Given the description of an element on the screen output the (x, y) to click on. 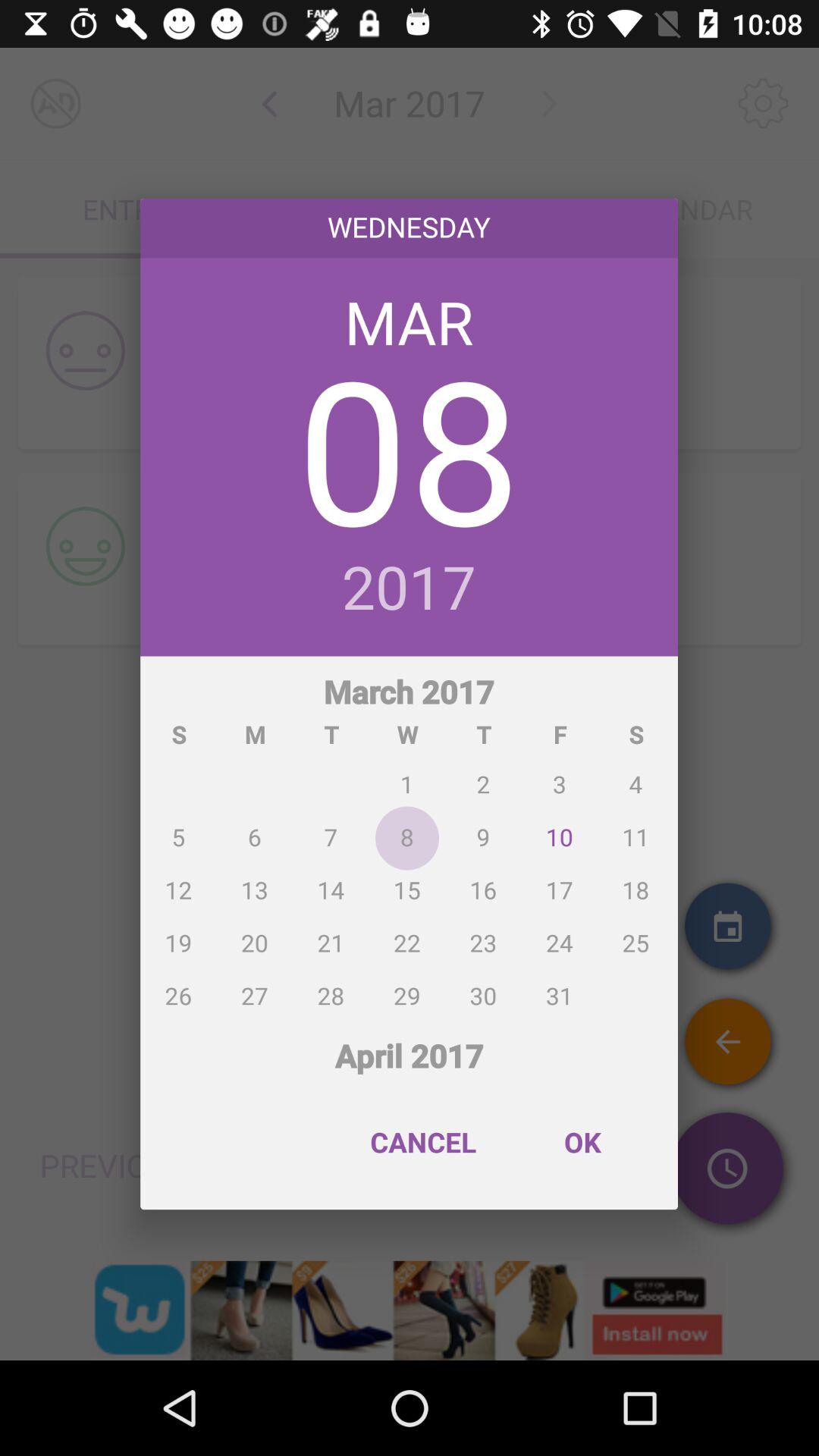
choose the icon next to the ok button (422, 1141)
